Given the description of an element on the screen output the (x, y) to click on. 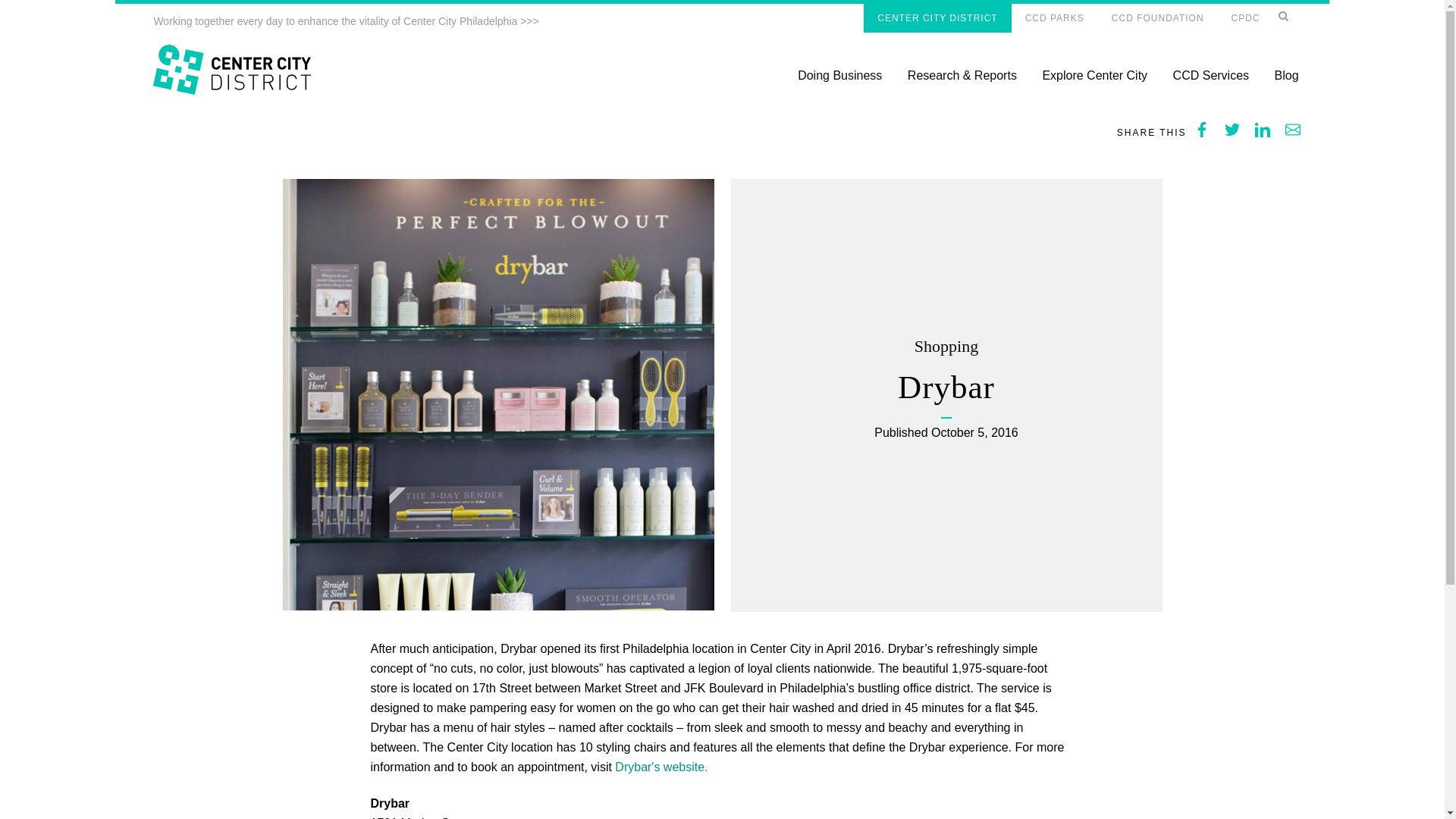
Doing Business (839, 75)
CCD PARKS (1054, 18)
CENTER CITY DISTRICT (936, 18)
CCD FOUNDATION (1157, 18)
CCD Parks (1054, 18)
CPDC (1245, 18)
CPDC (1245, 18)
CCD Foundation (1157, 18)
Center City District (936, 18)
